Given the description of an element on the screen output the (x, y) to click on. 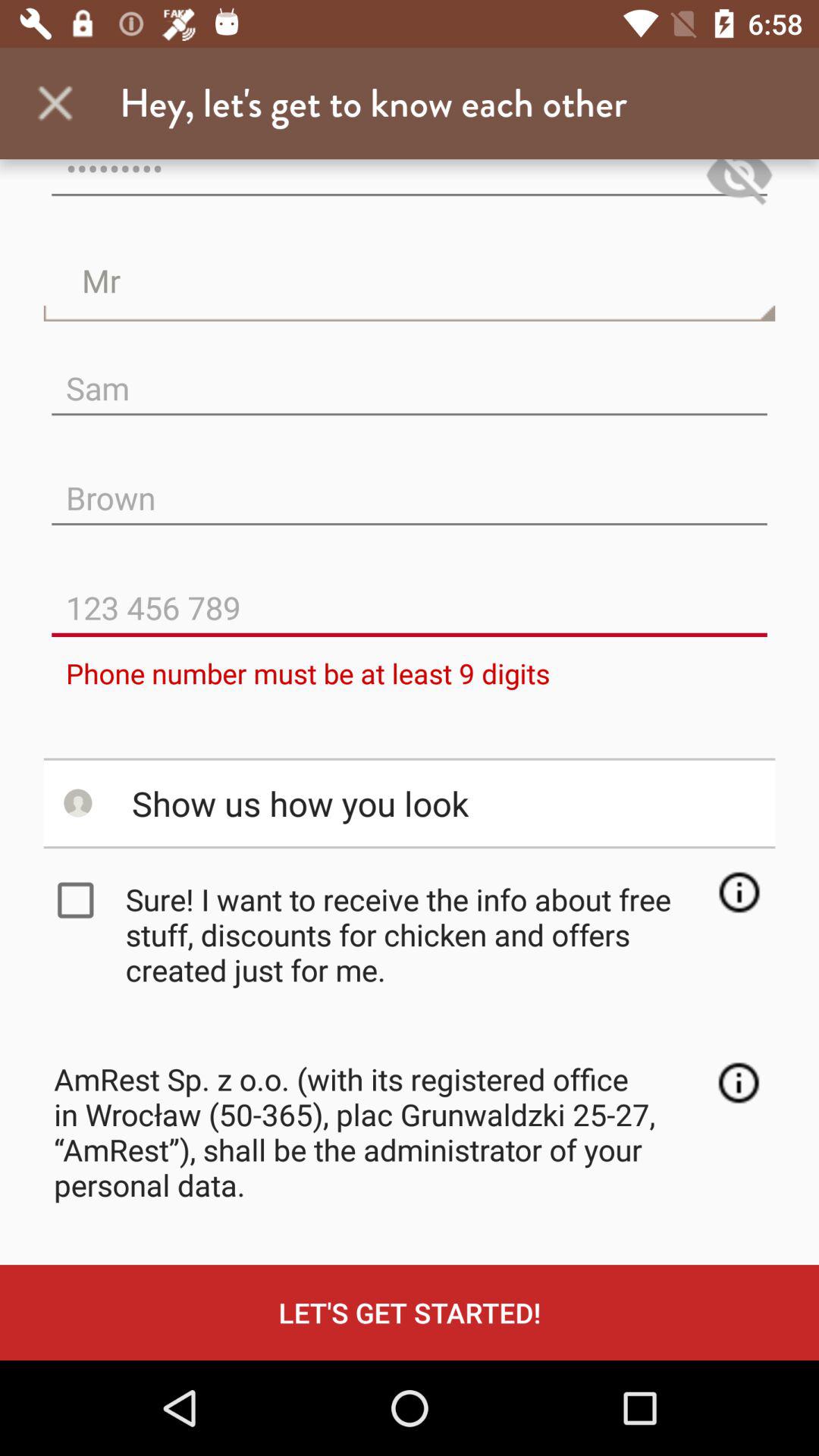
turn on the item at the top right corner (739, 185)
